Given the description of an element on the screen output the (x, y) to click on. 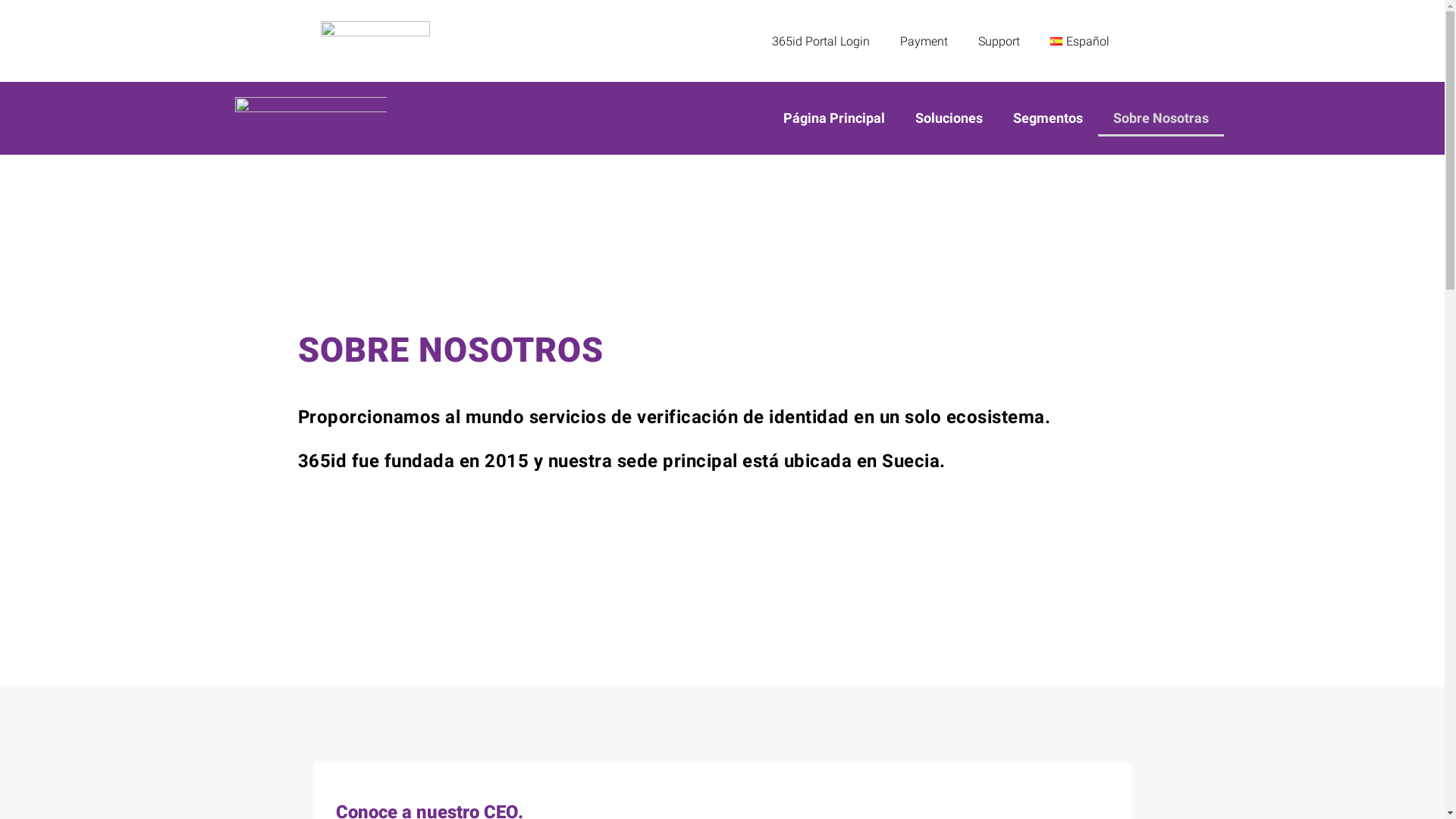
Segmentos Element type: text (1047, 118)
Payment Element type: text (923, 41)
Support Element type: text (999, 41)
Sobre Nosotras Element type: text (1160, 118)
Soluciones Element type: text (948, 118)
365id Portal Login Element type: text (820, 41)
